Given the description of an element on the screen output the (x, y) to click on. 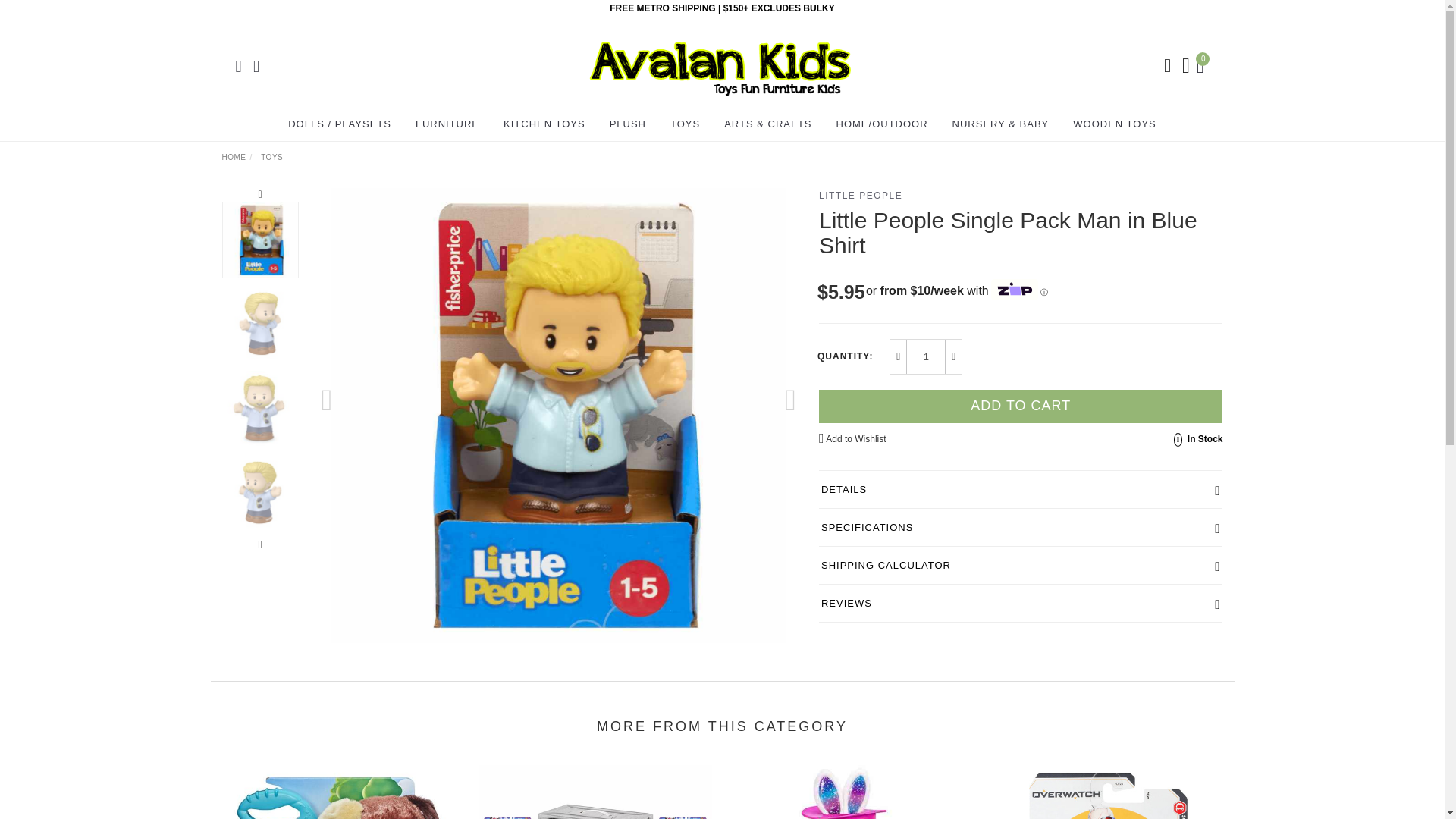
PLUSH (627, 123)
Avalan Kids (720, 64)
Add Little People Single Pack Man in Blue Shirt to Cart (1020, 406)
1 (926, 356)
Large View (260, 408)
TOYS (684, 123)
Little People (860, 195)
KITCHEN TOYS (544, 123)
FURNITURE (446, 123)
0 (1202, 64)
Large View (260, 323)
Large View (260, 492)
